Given the description of an element on the screen output the (x, y) to click on. 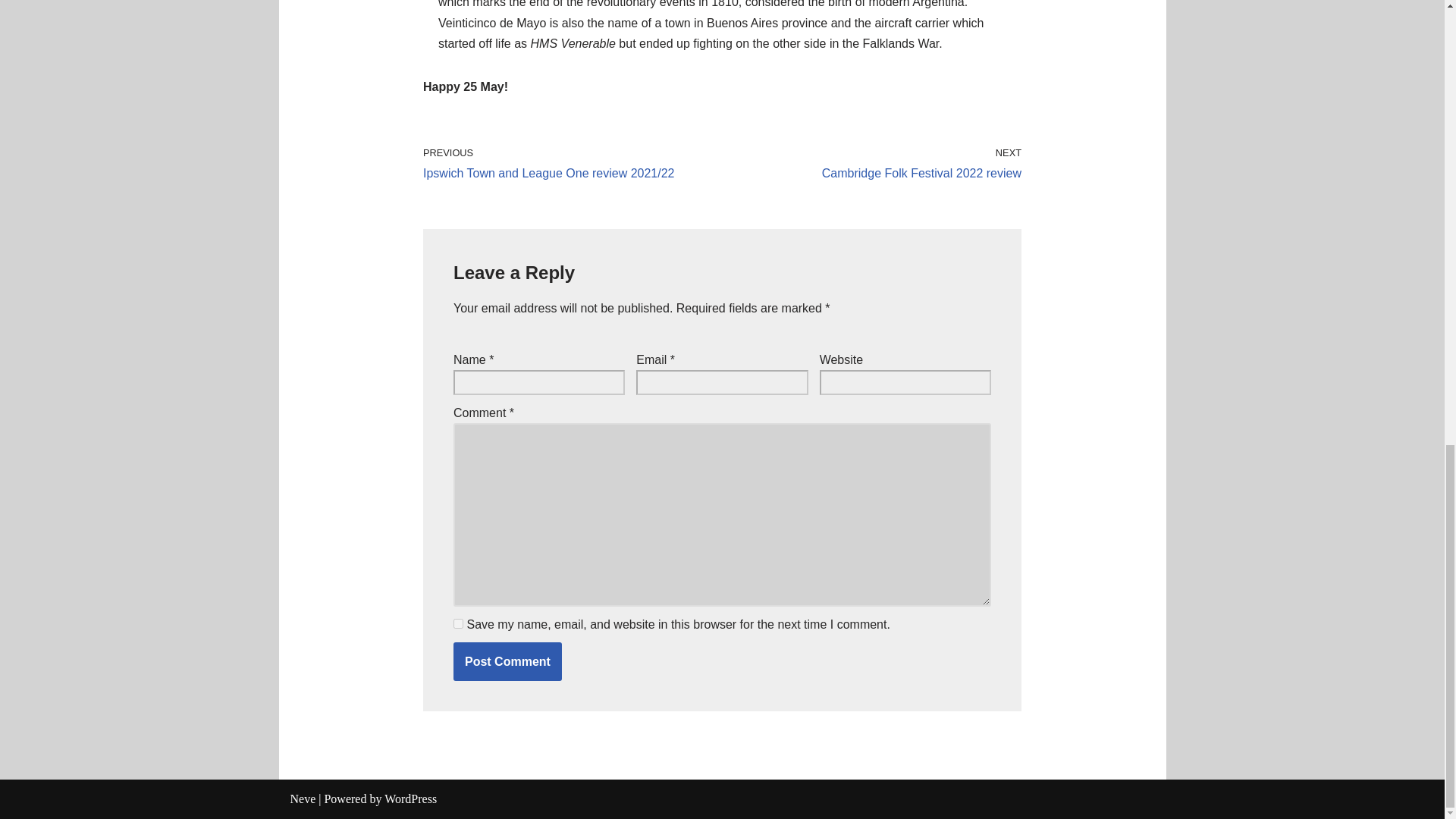
WordPress (875, 162)
yes (410, 798)
Post Comment (457, 623)
Neve (507, 661)
Post Comment (302, 798)
